Given the description of an element on the screen output the (x, y) to click on. 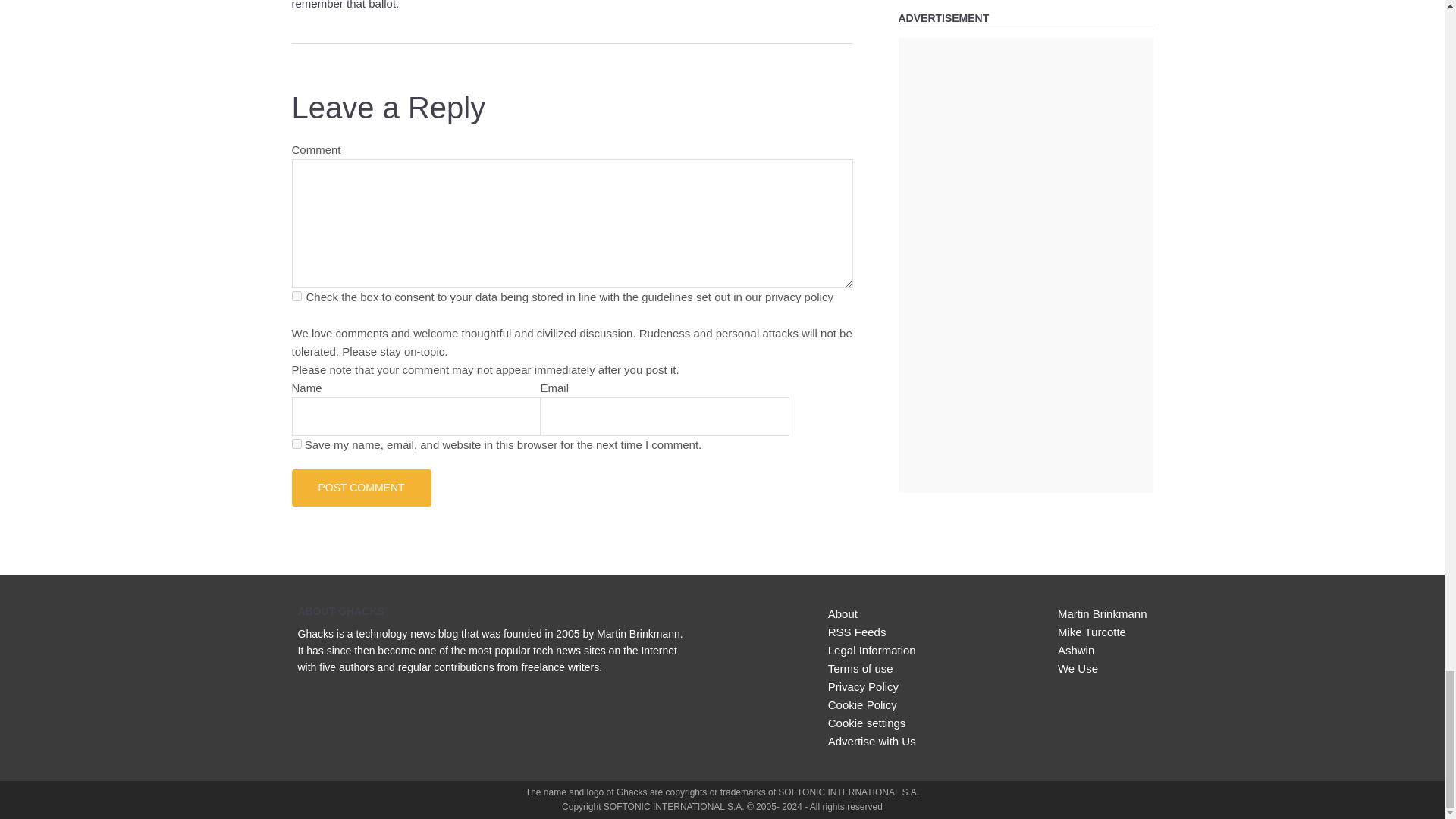
Post Comment (360, 487)
privacy-key (296, 296)
yes (296, 443)
